Given the description of an element on the screen output the (x, y) to click on. 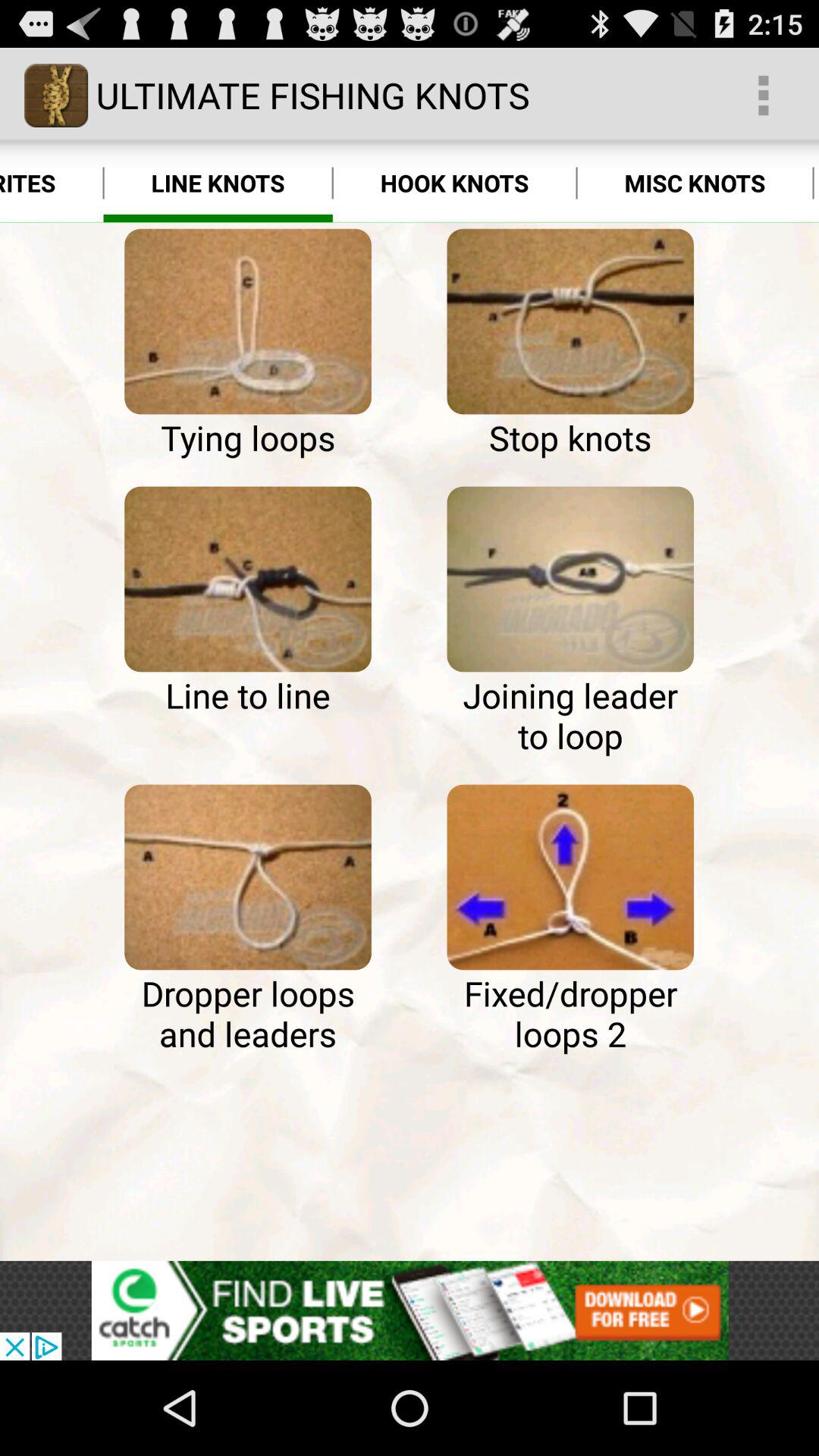
select this knot (570, 876)
